Given the description of an element on the screen output the (x, y) to click on. 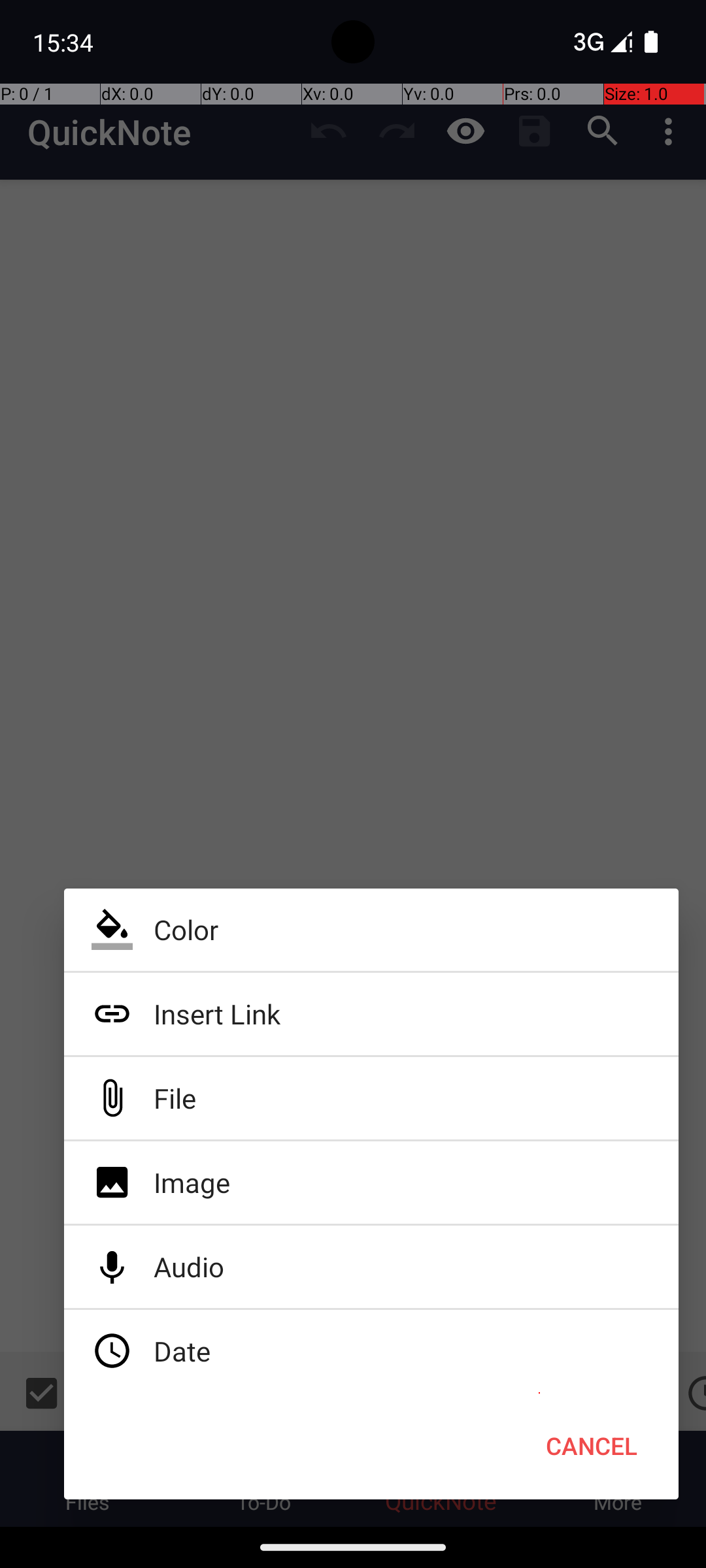
Color Element type: android.widget.TextView (371, 929)
Insert Link Element type: android.widget.TextView (371, 1013)
File Element type: android.widget.TextView (371, 1098)
Image Element type: android.widget.TextView (371, 1182)
